Given the description of an element on the screen output the (x, y) to click on. 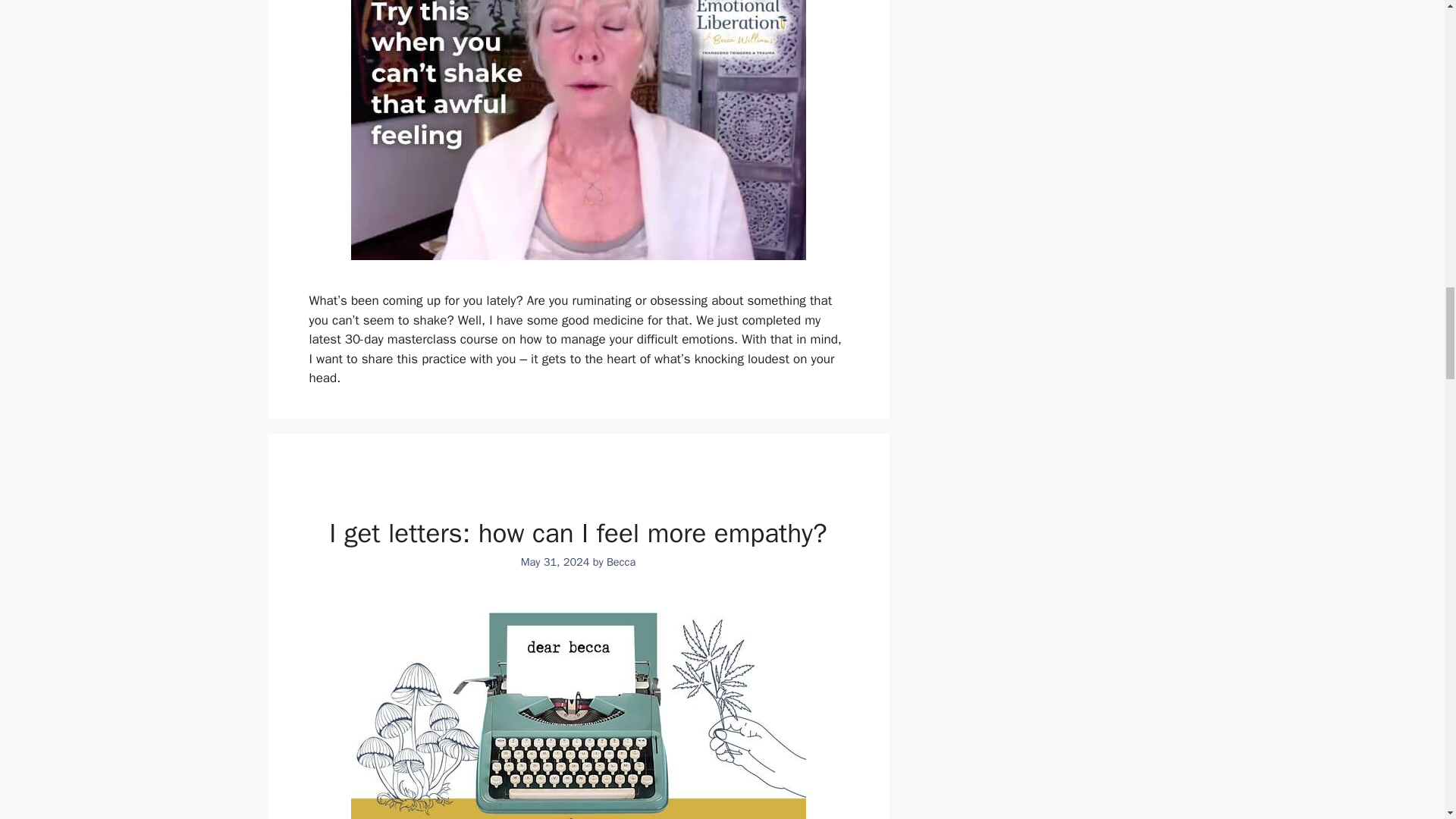
Becca (620, 561)
I get letters: how can I feel more empathy? (578, 532)
View all posts by Becca (620, 561)
